Given the description of an element on the screen output the (x, y) to click on. 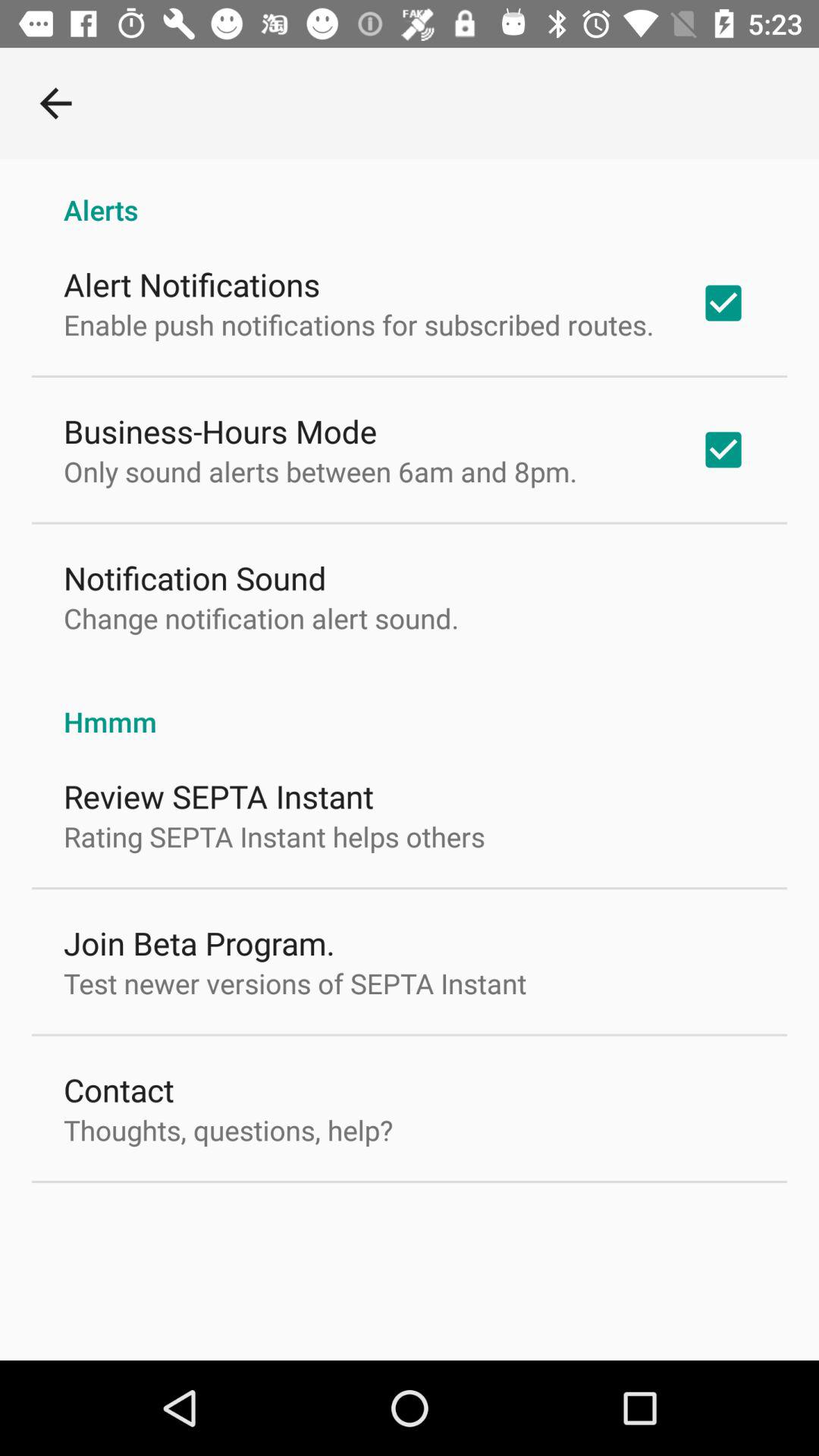
choose item above business-hours mode icon (358, 324)
